Given the description of an element on the screen output the (x, y) to click on. 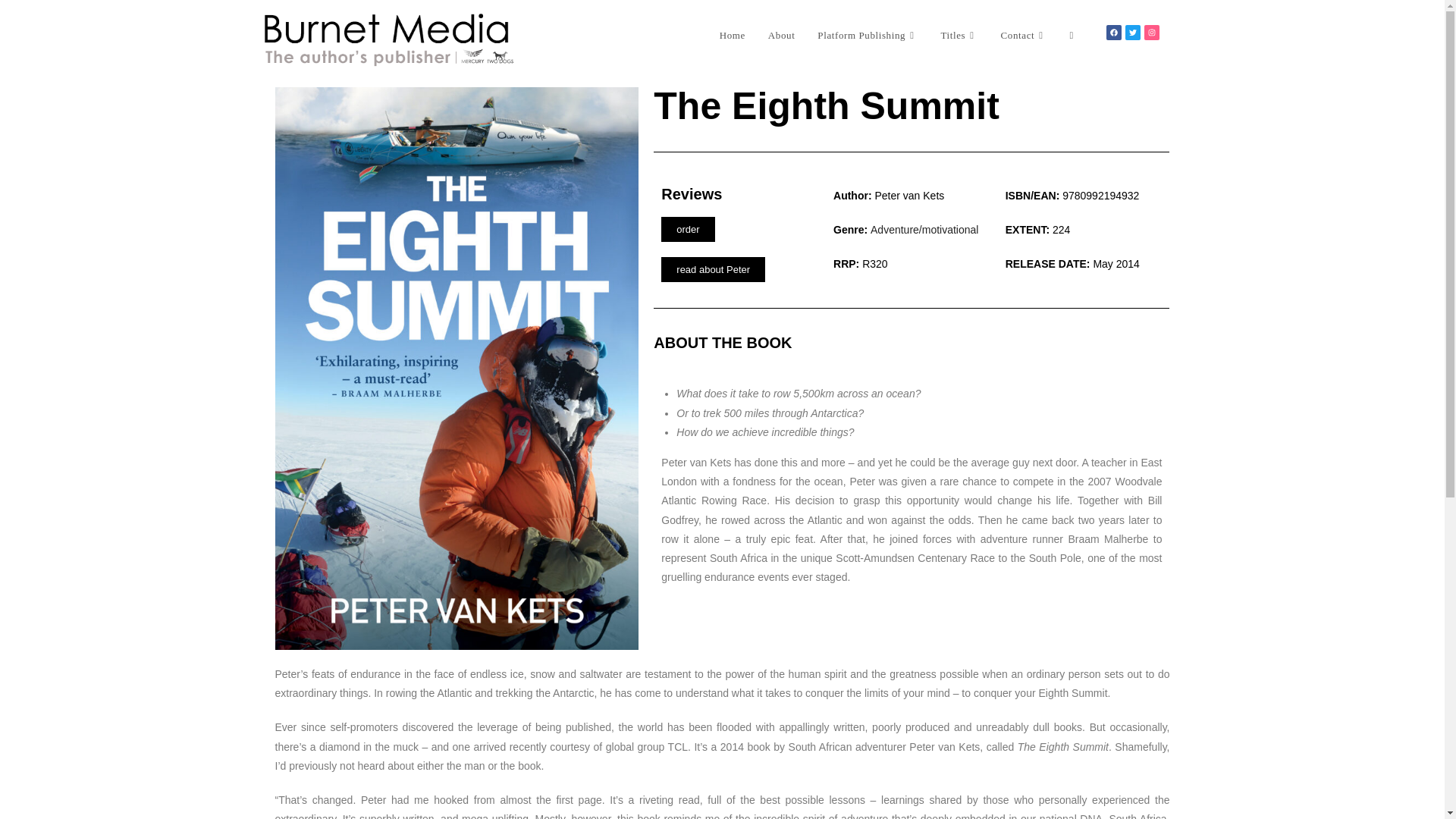
About (781, 35)
Contact (1024, 35)
Titles (958, 35)
Platform Publishing (867, 35)
